Given the description of an element on the screen output the (x, y) to click on. 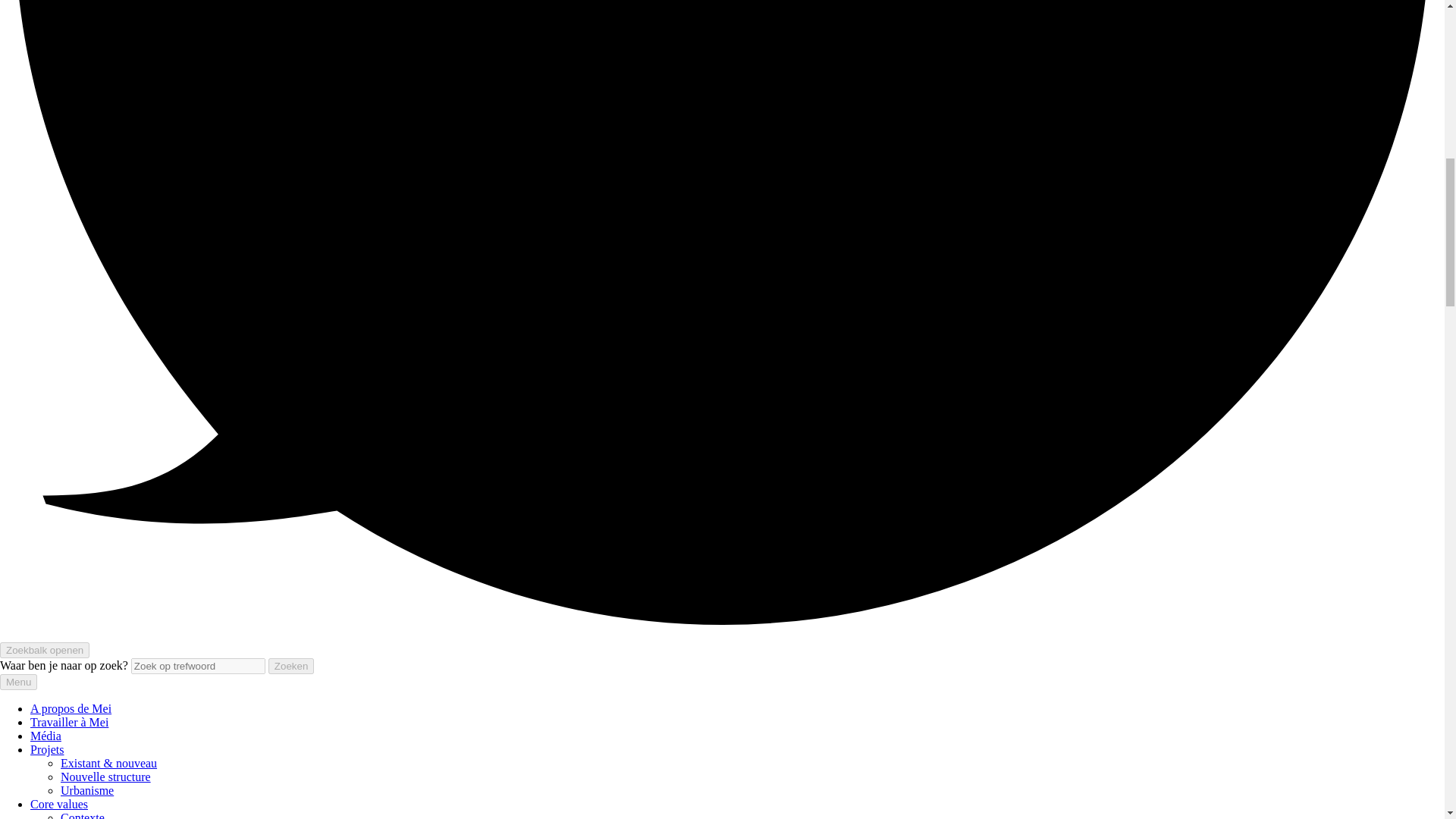
A propos de Mei (71, 707)
Urbanisme (87, 789)
Core values (58, 803)
Zoeken (290, 666)
Contexte (82, 815)
Zoekbalk openen (44, 650)
Projets (47, 748)
Nouvelle structure (106, 776)
Menu (18, 682)
Media (45, 735)
